Given the description of an element on the screen output the (x, y) to click on. 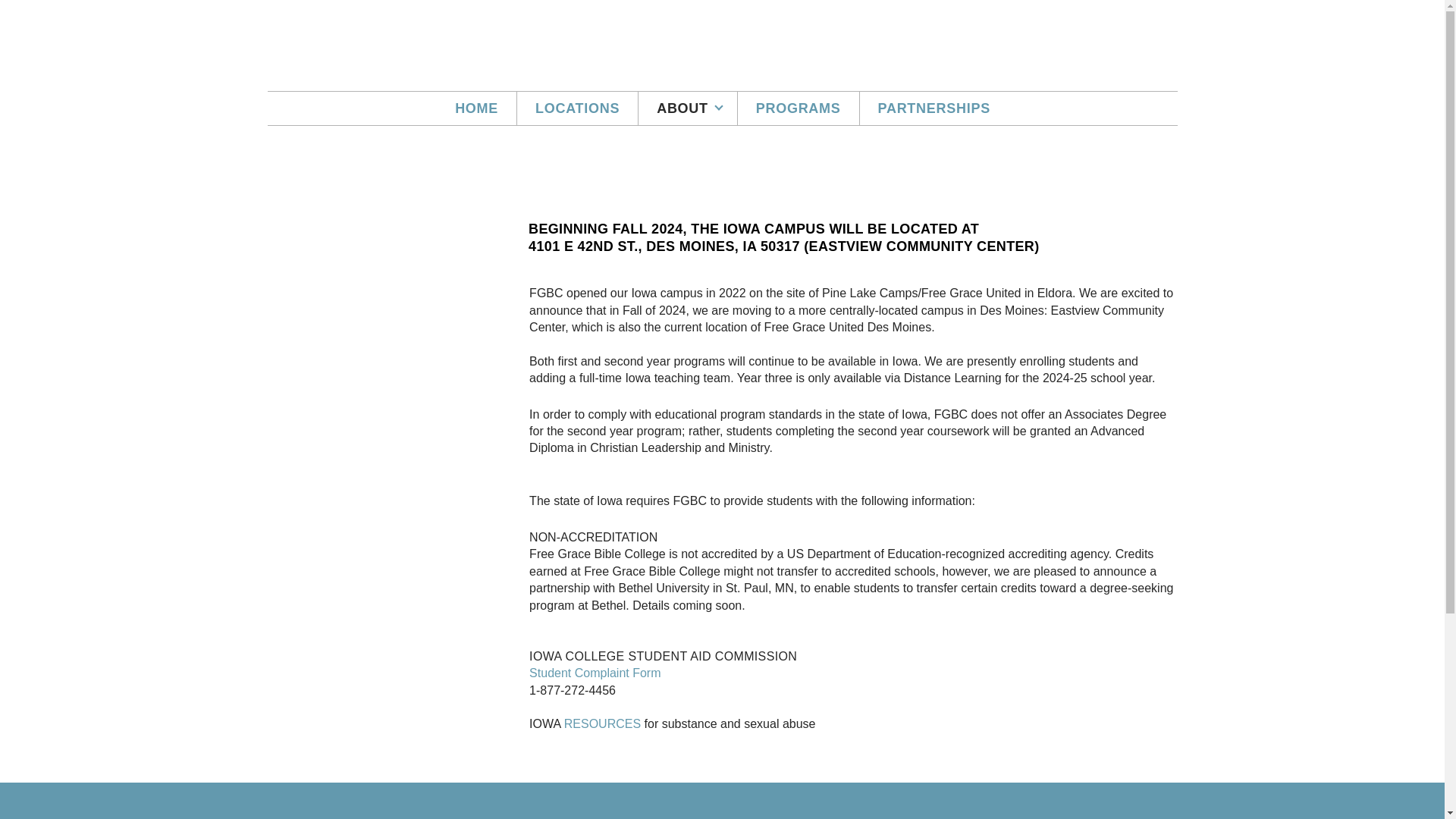
HOME (476, 108)
ABOUT (687, 108)
PROGRAMS (798, 108)
LOCATIONS (576, 108)
PARTNERSHIPS (934, 108)
